Given the description of an element on the screen output the (x, y) to click on. 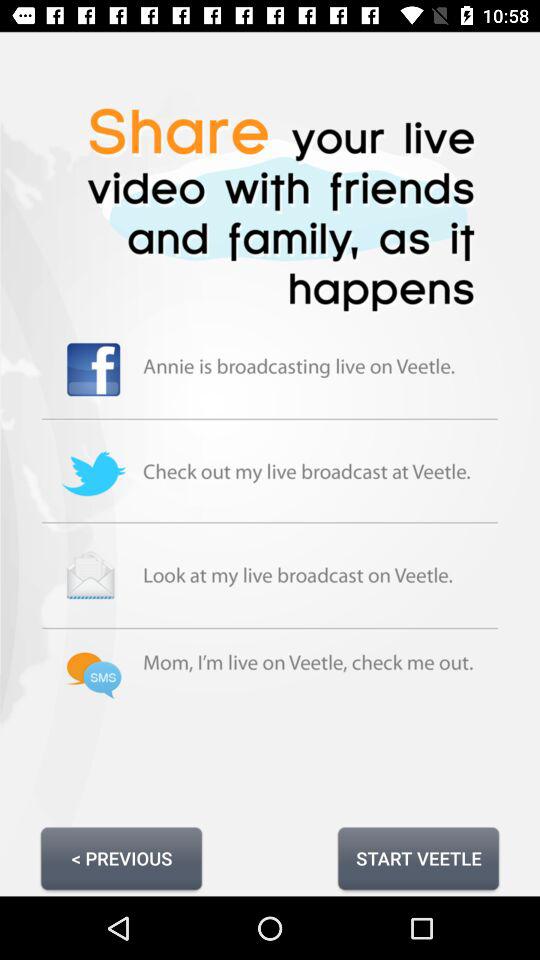
tap the item to the left of start veetle (121, 858)
